Given the description of an element on the screen output the (x, y) to click on. 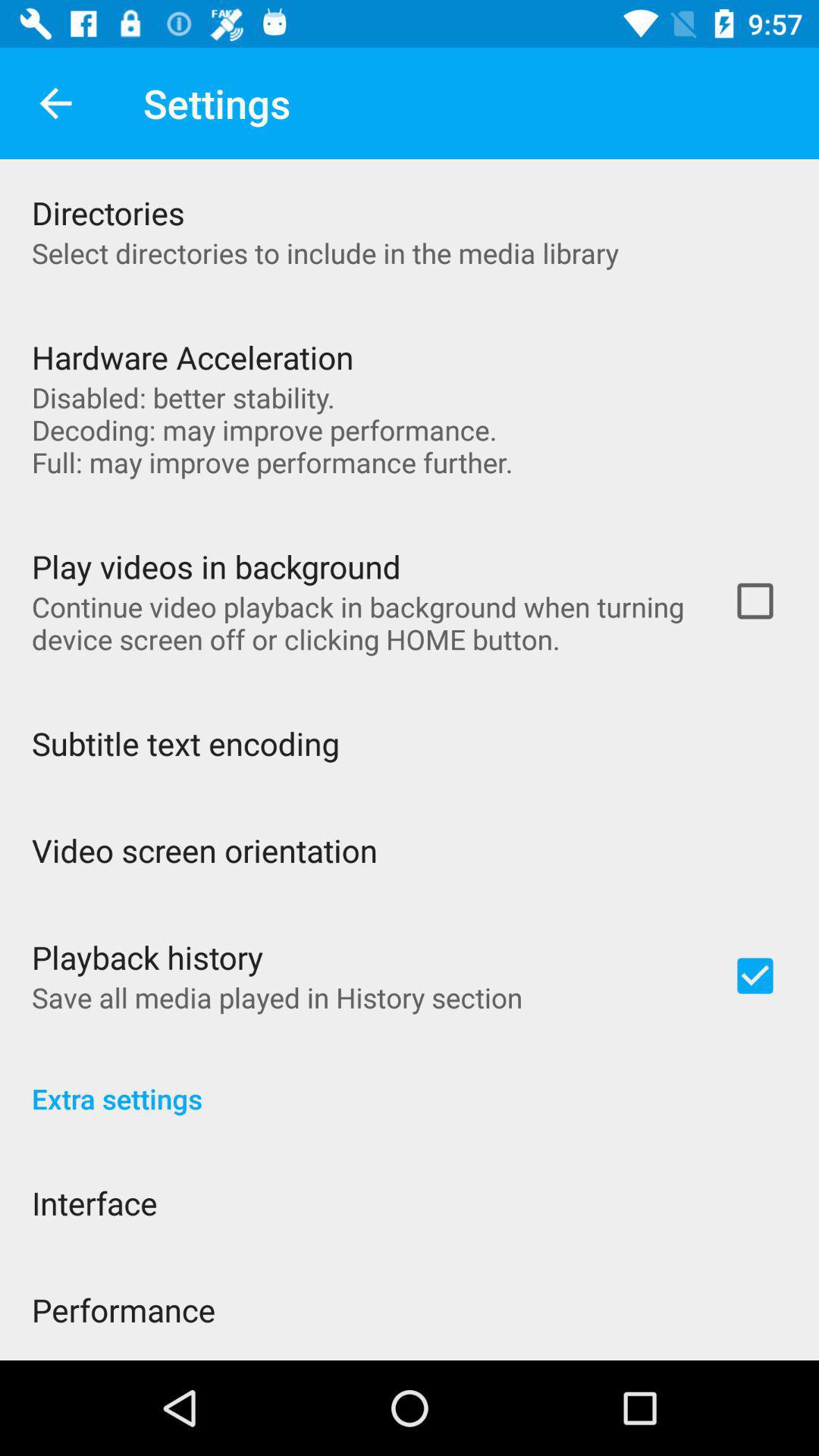
turn off the item to the left of settings icon (55, 103)
